Given the description of an element on the screen output the (x, y) to click on. 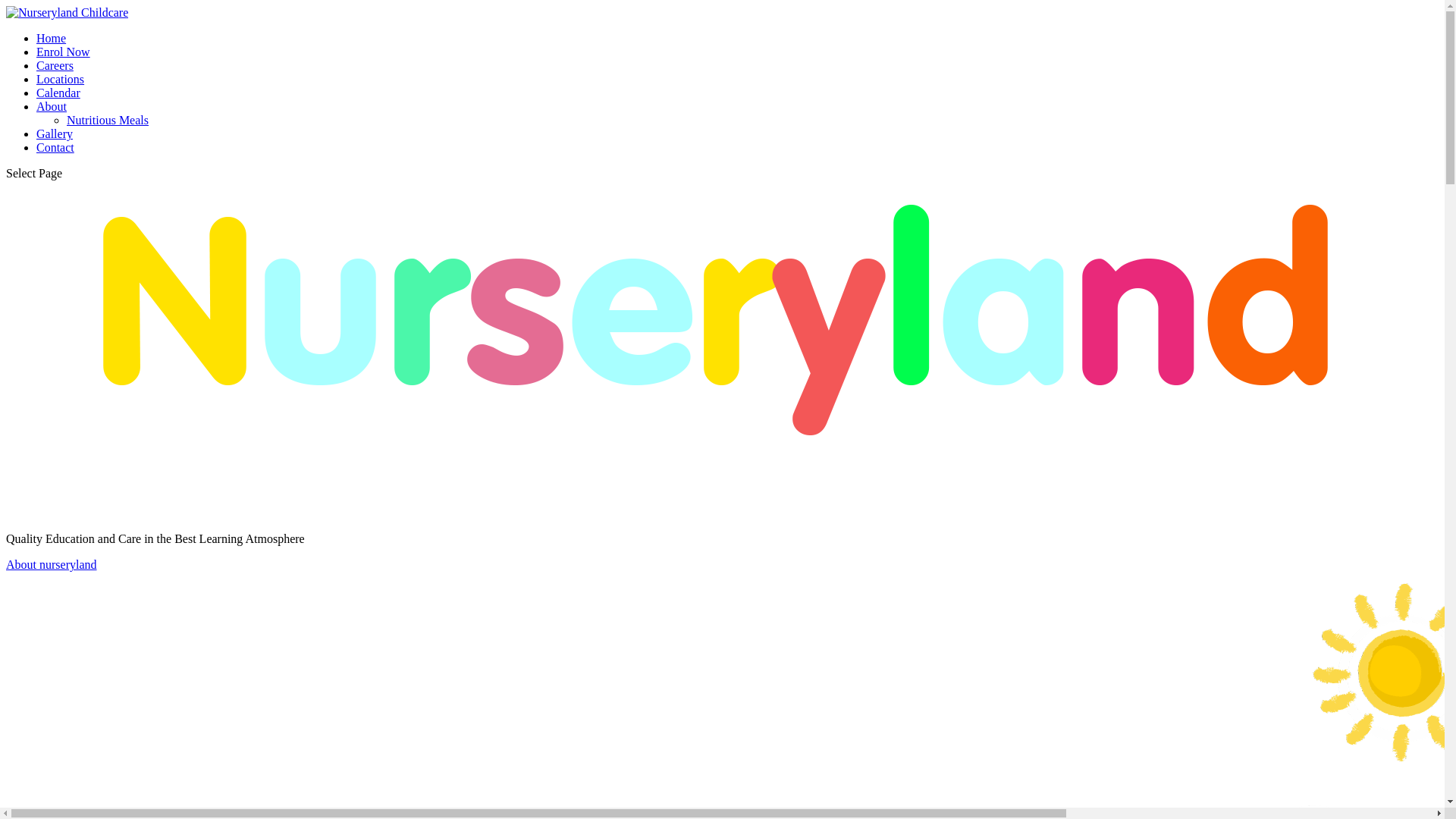
Calendar Element type: text (58, 92)
About Element type: text (51, 106)
Nutritious Meals Element type: text (107, 119)
Gallery Element type: text (54, 133)
Careers Element type: text (54, 65)
Enrol Now Element type: text (63, 51)
Locations Element type: text (60, 78)
Home Element type: text (50, 37)
Contact Element type: text (55, 147)
About nurseryland Element type: text (51, 564)
